Given the description of an element on the screen output the (x, y) to click on. 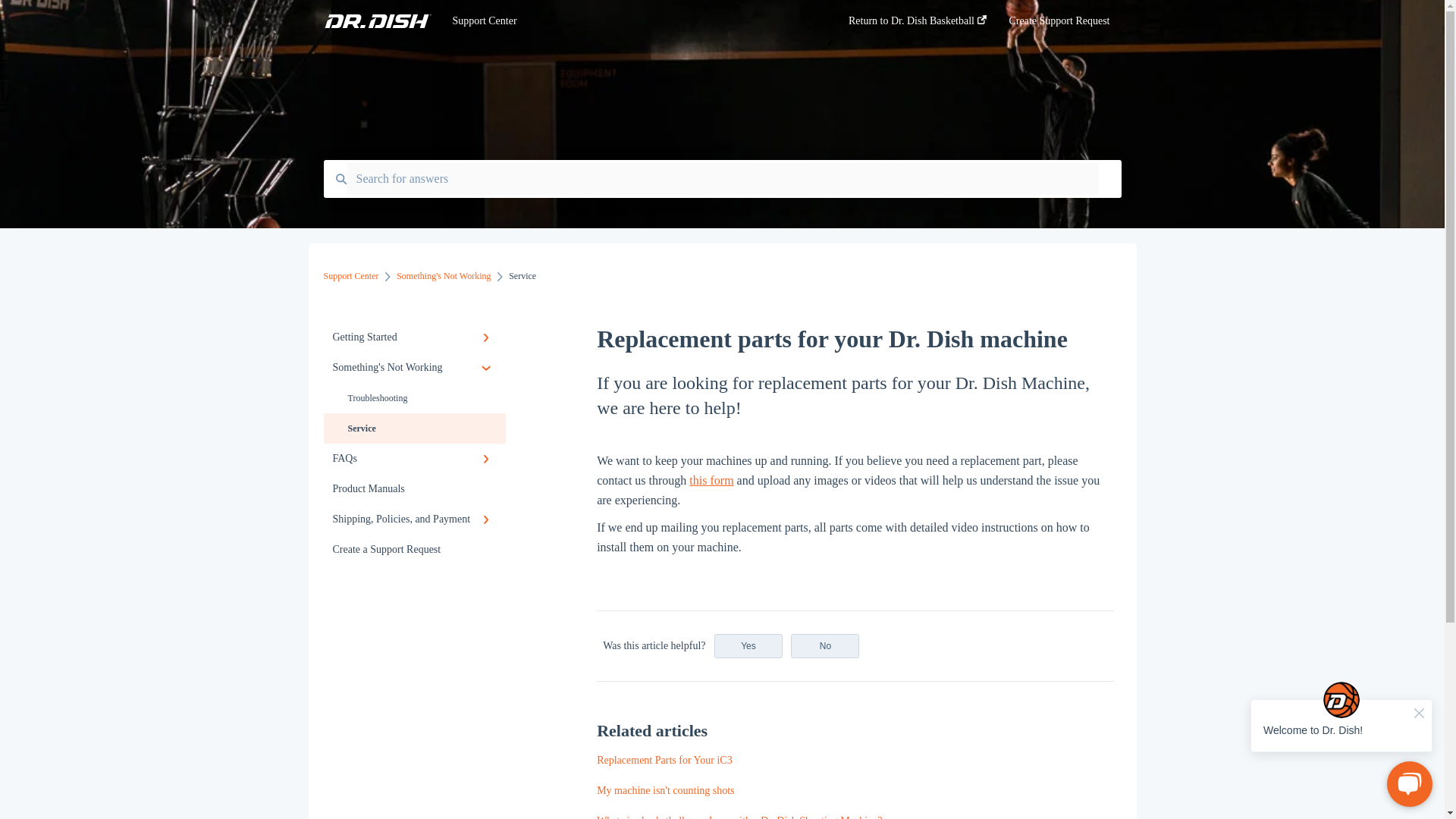
Something's Not Working (443, 276)
Product Manuals (414, 489)
Return to Dr. Dish Basketball (917, 25)
Shipping, Policies, and Payment (414, 519)
Troubleshooting (414, 398)
Support Center (627, 21)
Support Center (350, 276)
Create Support Request (1059, 25)
FAQs (414, 458)
Service (414, 428)
Getting Started (414, 337)
Something's Not Working (414, 367)
